Given the description of an element on the screen output the (x, y) to click on. 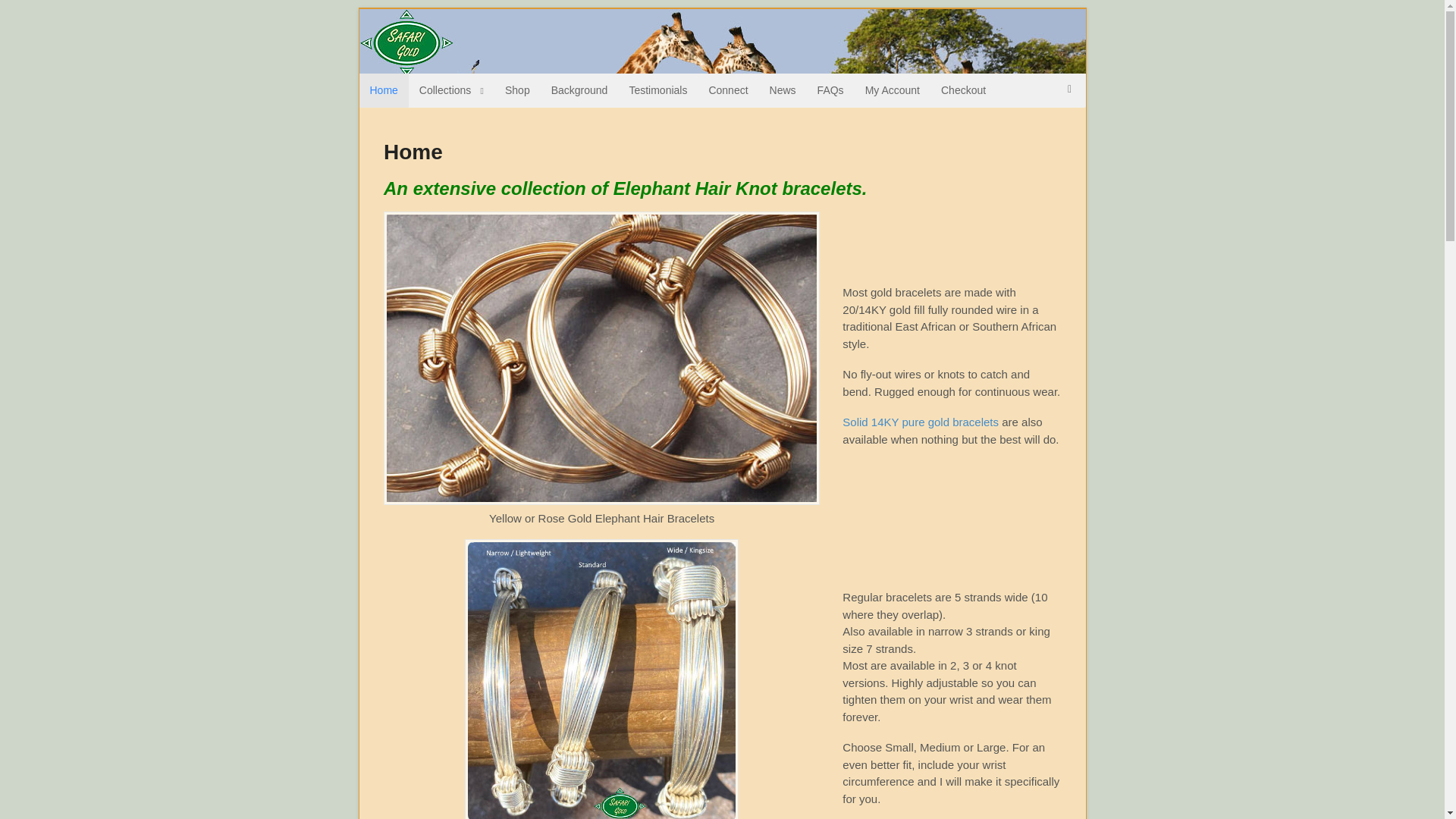
Home (384, 90)
News (782, 90)
FAQs (830, 90)
My Account (892, 90)
Shop (517, 90)
Testimonials (657, 90)
Connect (727, 90)
Solid 14KY pure gold bracelets (920, 421)
Collections (452, 90)
Background (579, 90)
